Given the description of an element on the screen output the (x, y) to click on. 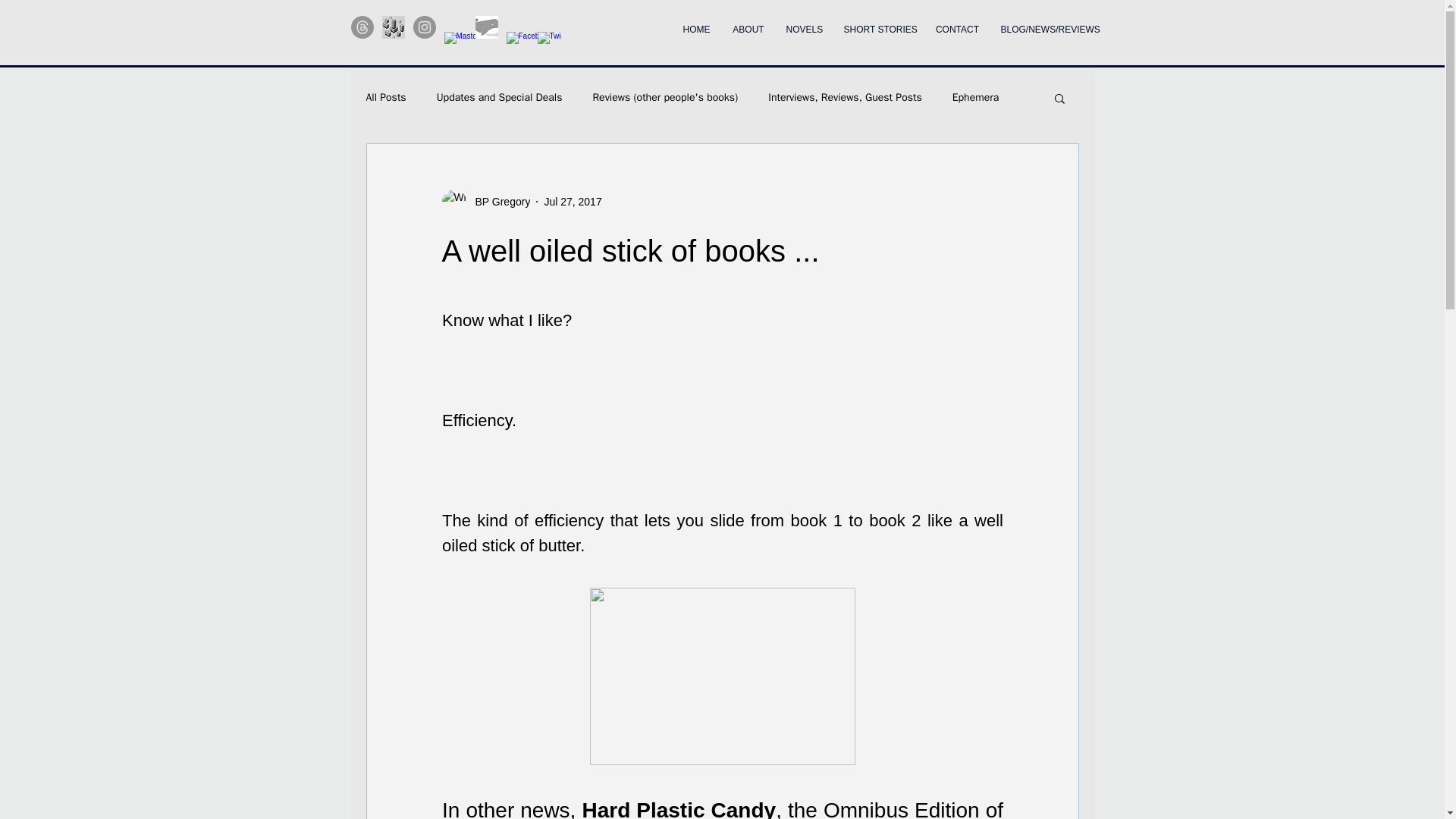
Updates and Special Deals (499, 97)
NOVELS (803, 22)
BP Gregory (497, 201)
All Posts (385, 97)
SHORT STORIES (878, 22)
HOME (696, 22)
CONTACT (957, 22)
Ephemera (975, 97)
ABOUT (749, 22)
Interviews, Reviews, Guest Posts (844, 97)
Jul 27, 2017 (572, 201)
